Given the description of an element on the screen output the (x, y) to click on. 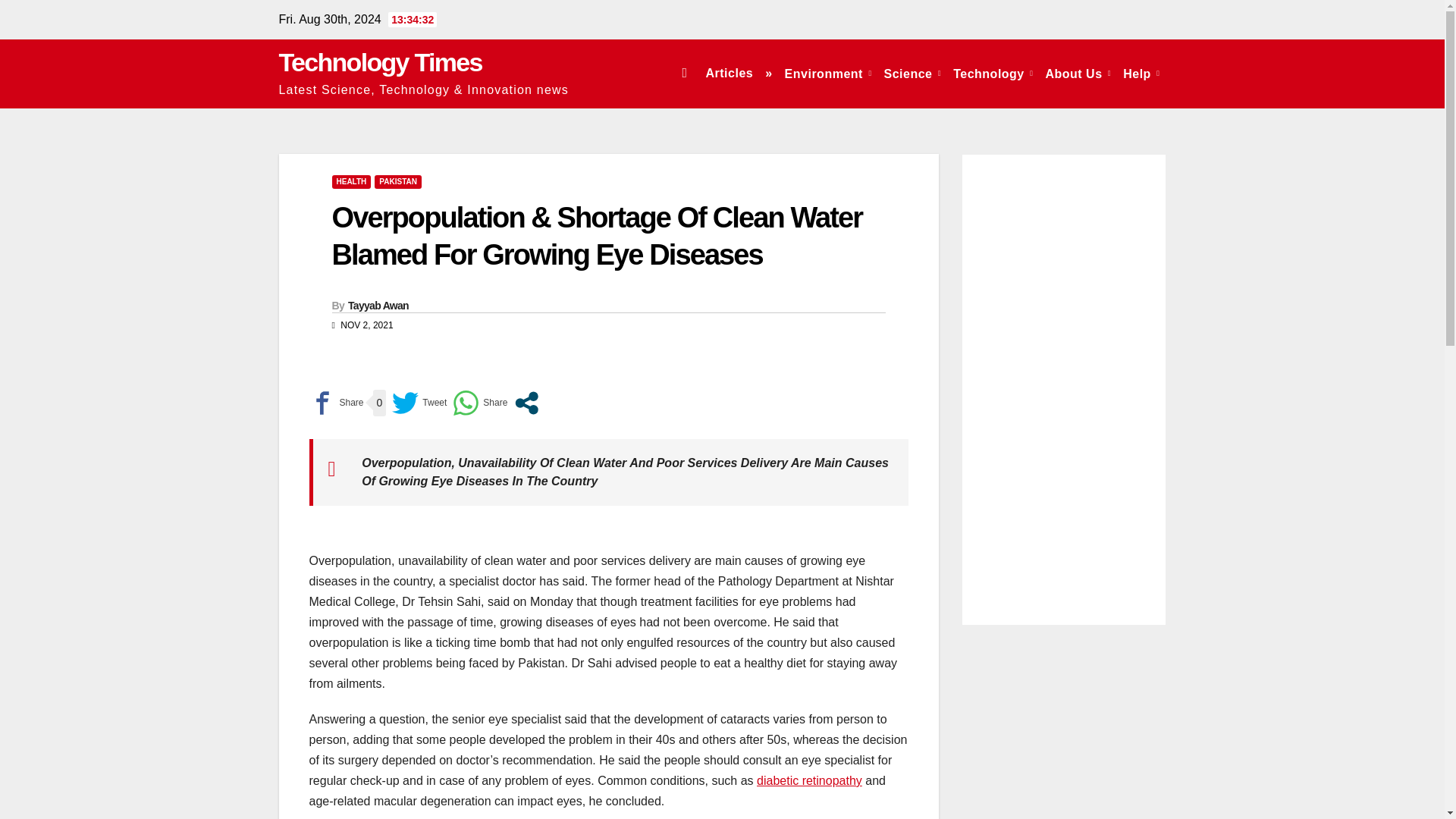
Technology Times (380, 61)
Science (912, 73)
Technology (993, 73)
Technology (993, 73)
Science (912, 73)
Environment (827, 73)
About Us (1077, 73)
Environment (827, 73)
